Given the description of an element on the screen output the (x, y) to click on. 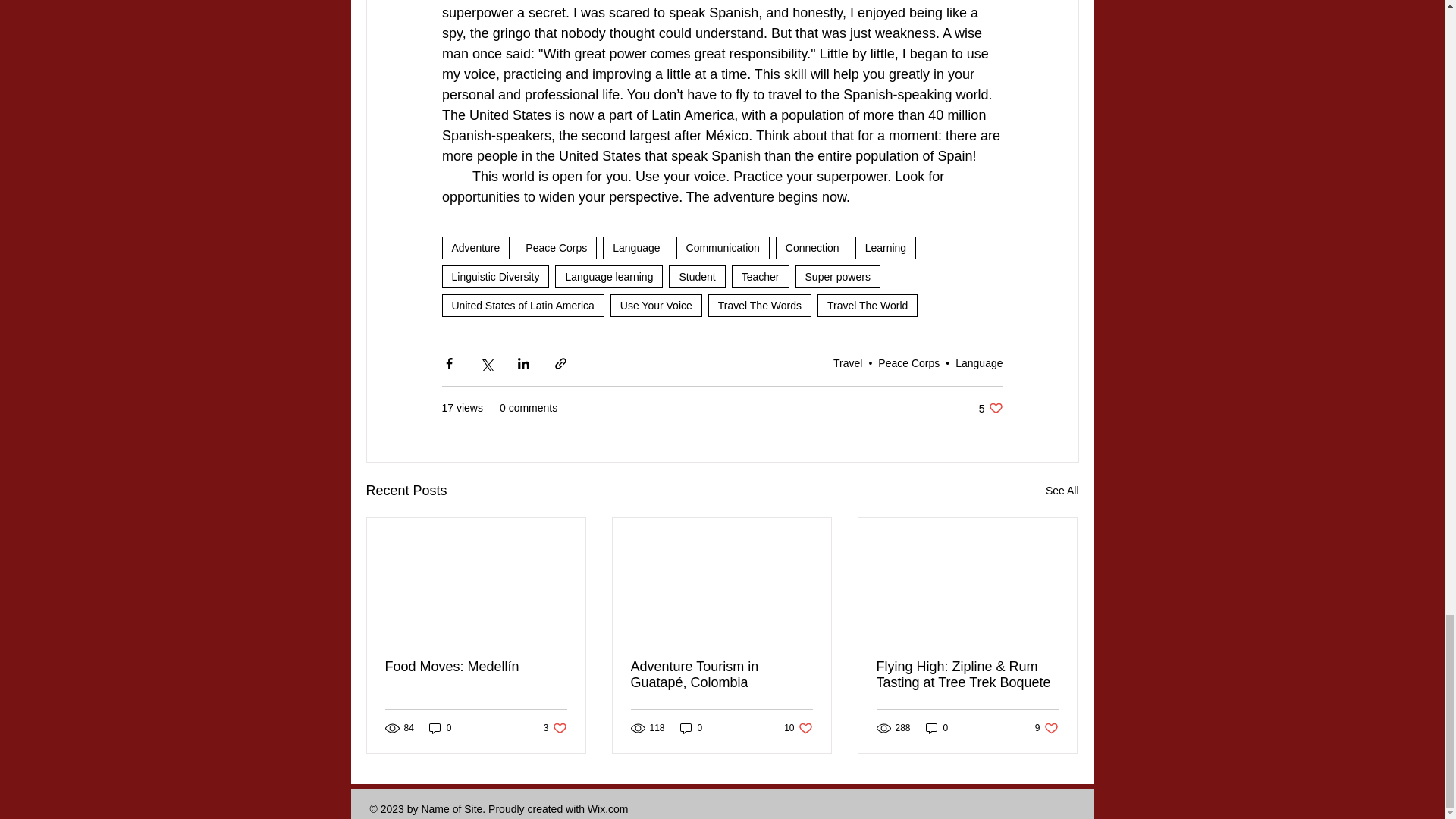
Travel The World (866, 305)
Learning (886, 247)
Use Your Voice (655, 305)
Travel The Words (758, 305)
Teacher (760, 276)
Peace Corps (555, 247)
Language (635, 247)
Connection (812, 247)
Language learning (608, 276)
Linguistic Diversity (494, 276)
